Given the description of an element on the screen output the (x, y) to click on. 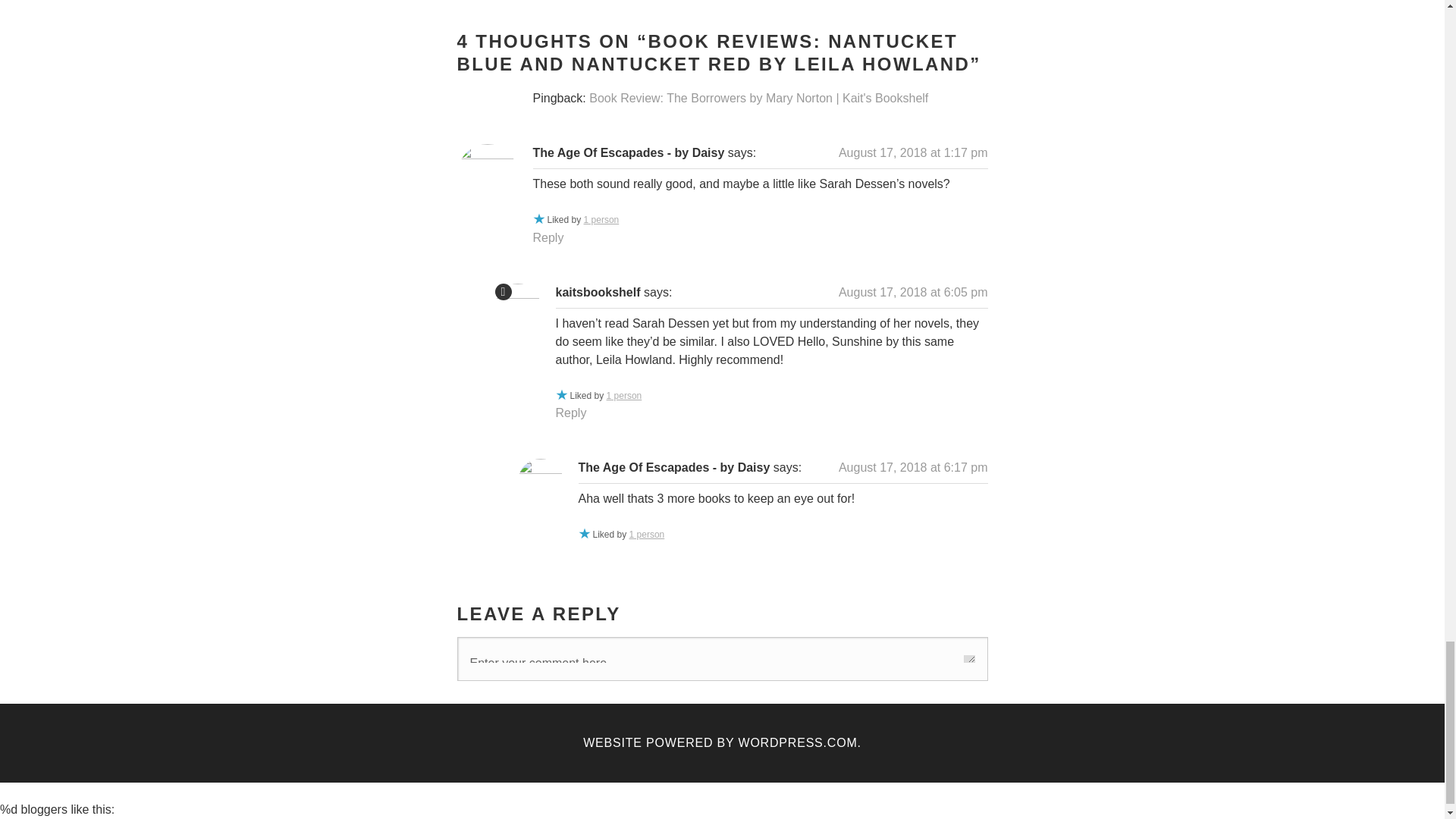
August 17, 2018 at 1:17 pm (913, 152)
Enter your comment here... (722, 658)
